Given the description of an element on the screen output the (x, y) to click on. 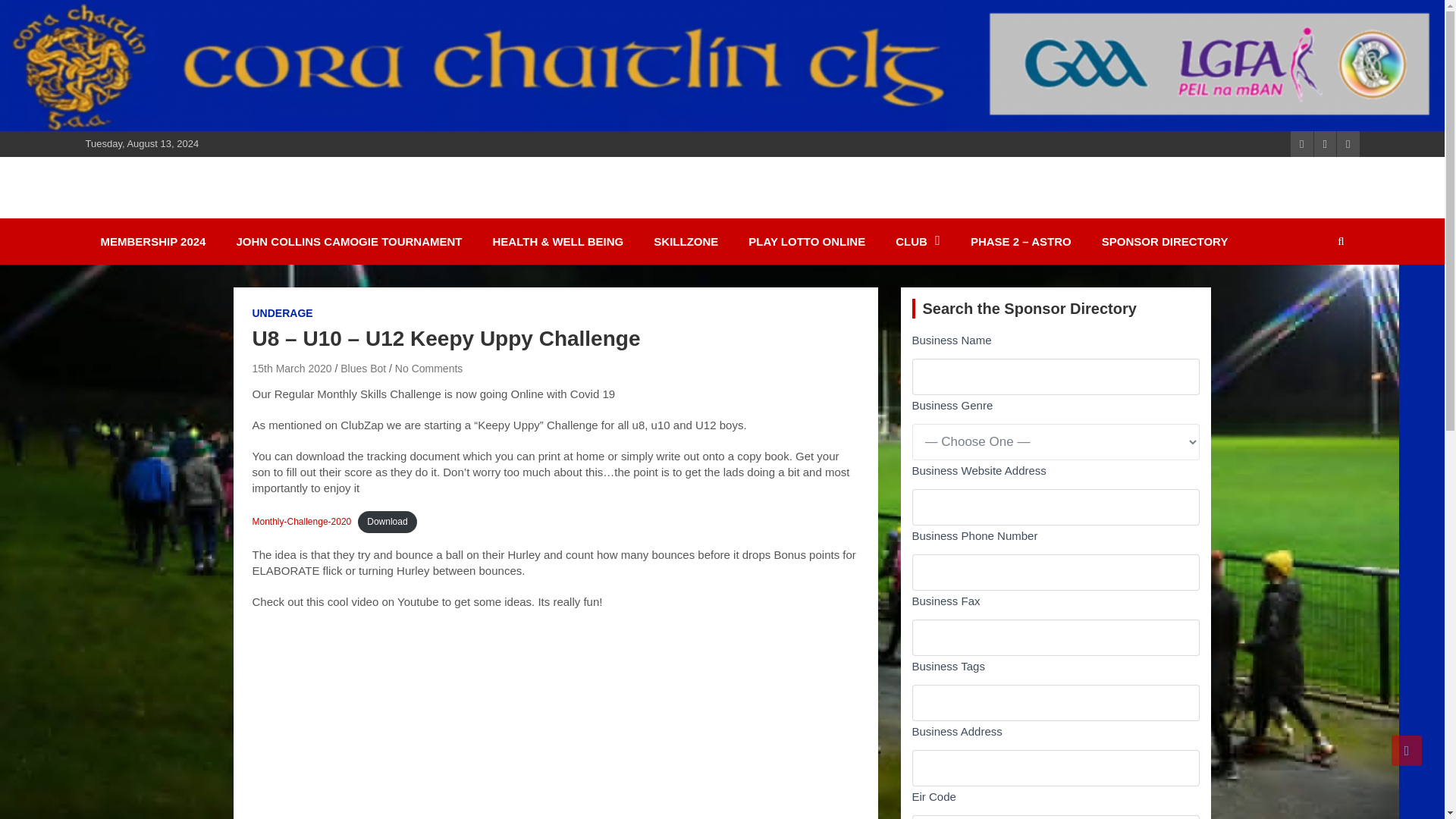
MEMBERSHIP 2024 (152, 241)
Download (387, 522)
Blues Bot (362, 368)
UNDERAGE (282, 313)
SKILLZONE (686, 241)
No Comments (428, 368)
15th March 2020 (291, 368)
PLAY LOTTO ONLINE (806, 241)
JOHN COLLINS CAMOGIE TOURNAMENT (349, 241)
Freestyle Hurling: The best of! (555, 721)
